Given the description of an element on the screen output the (x, y) to click on. 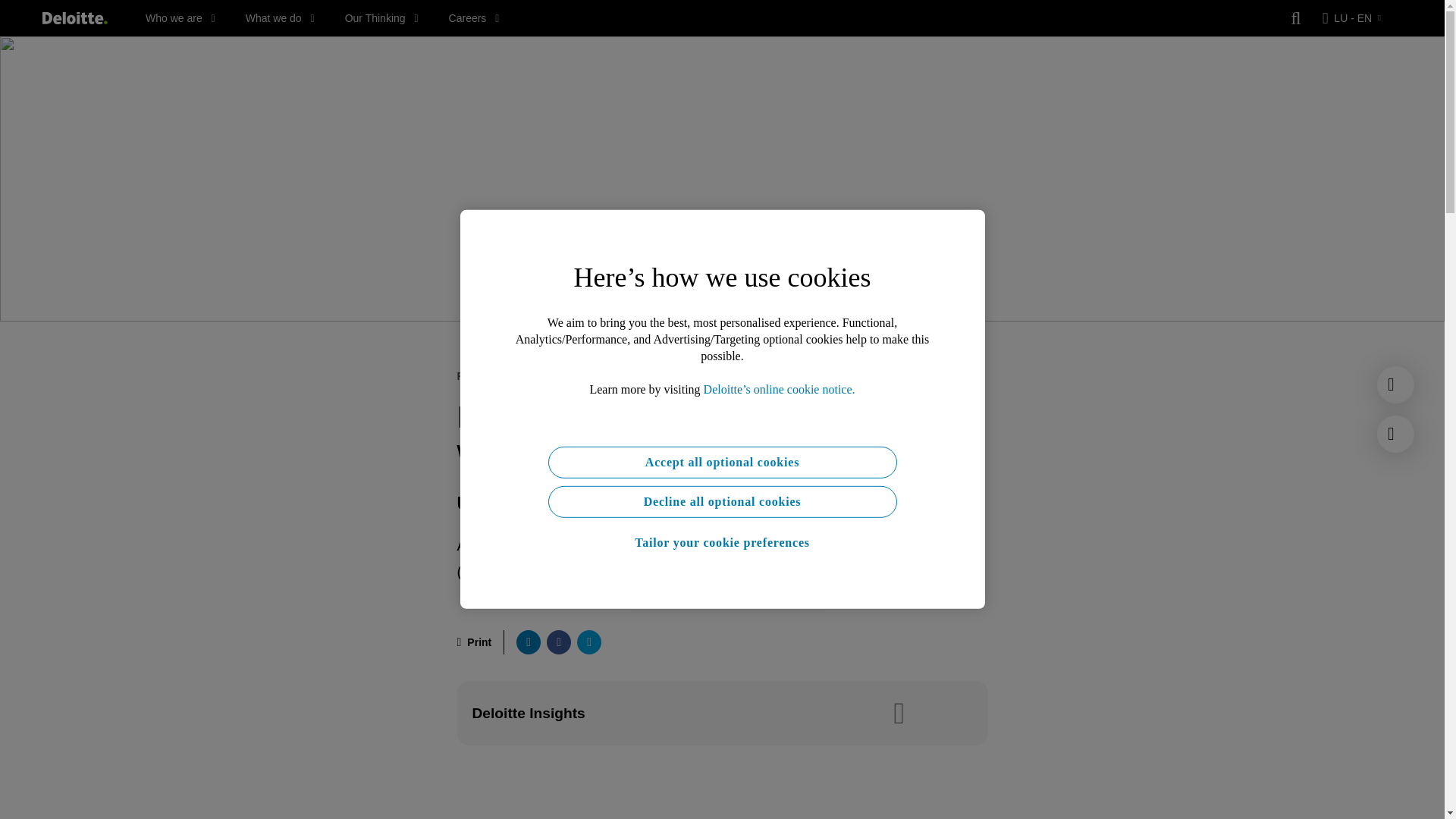
Print (474, 641)
facebook (558, 641)
Deloitte (74, 18)
Our Thinking (382, 18)
Careers (473, 18)
Who we are (180, 18)
linkedin (528, 641)
share via... (588, 641)
What we do (280, 18)
